Given the description of an element on the screen output the (x, y) to click on. 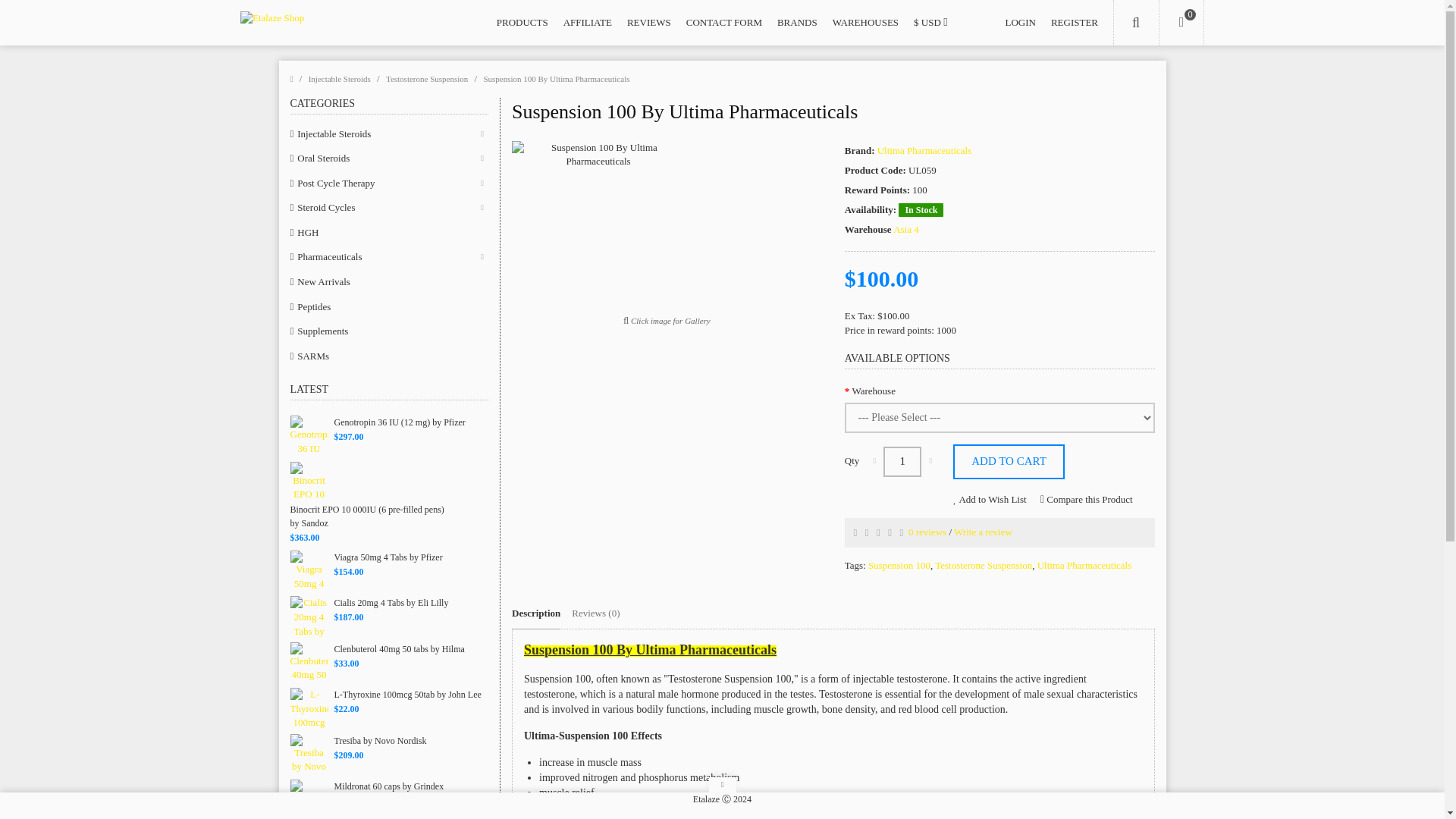
Suspension 100 By Ultima Pharmaceuticals (598, 226)
Tresiba by Novo Nordisk (308, 753)
PRODUCTS (522, 22)
Clenbuterol 40mg 50 tabs by Hilma (308, 662)
L-Thyroxine 100mcg 50tab by John Lee (308, 707)
1 (902, 461)
Mildronat 60 caps by Grindex  (308, 799)
Viagra 50mg 4 Tabs by Pfizer (308, 570)
Etalaze Shop (360, 23)
